Given the description of an element on the screen output the (x, y) to click on. 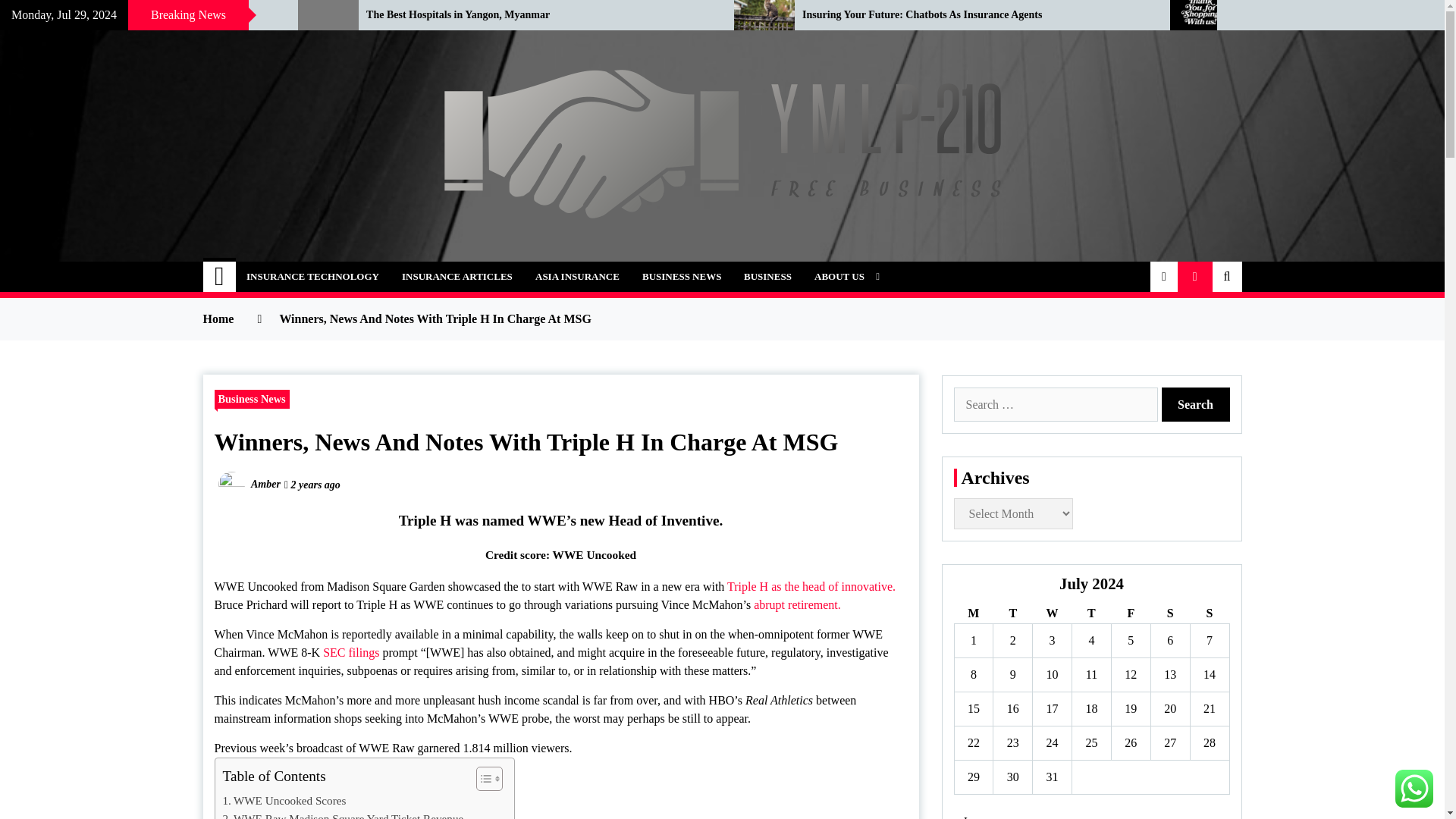
Home (219, 276)
Insuring Your Future: Chatbots As Insurance Agents (974, 15)
WWE Uncooked Scores (284, 800)
Insurance Agency Lead Scoring (137, 15)
The Best Hospitals in Yangon, Myanmar (538, 15)
WWE Raw Madison Square Yard Ticket Revenue (343, 814)
Search (1195, 404)
Search (1195, 404)
